Given the description of an element on the screen output the (x, y) to click on. 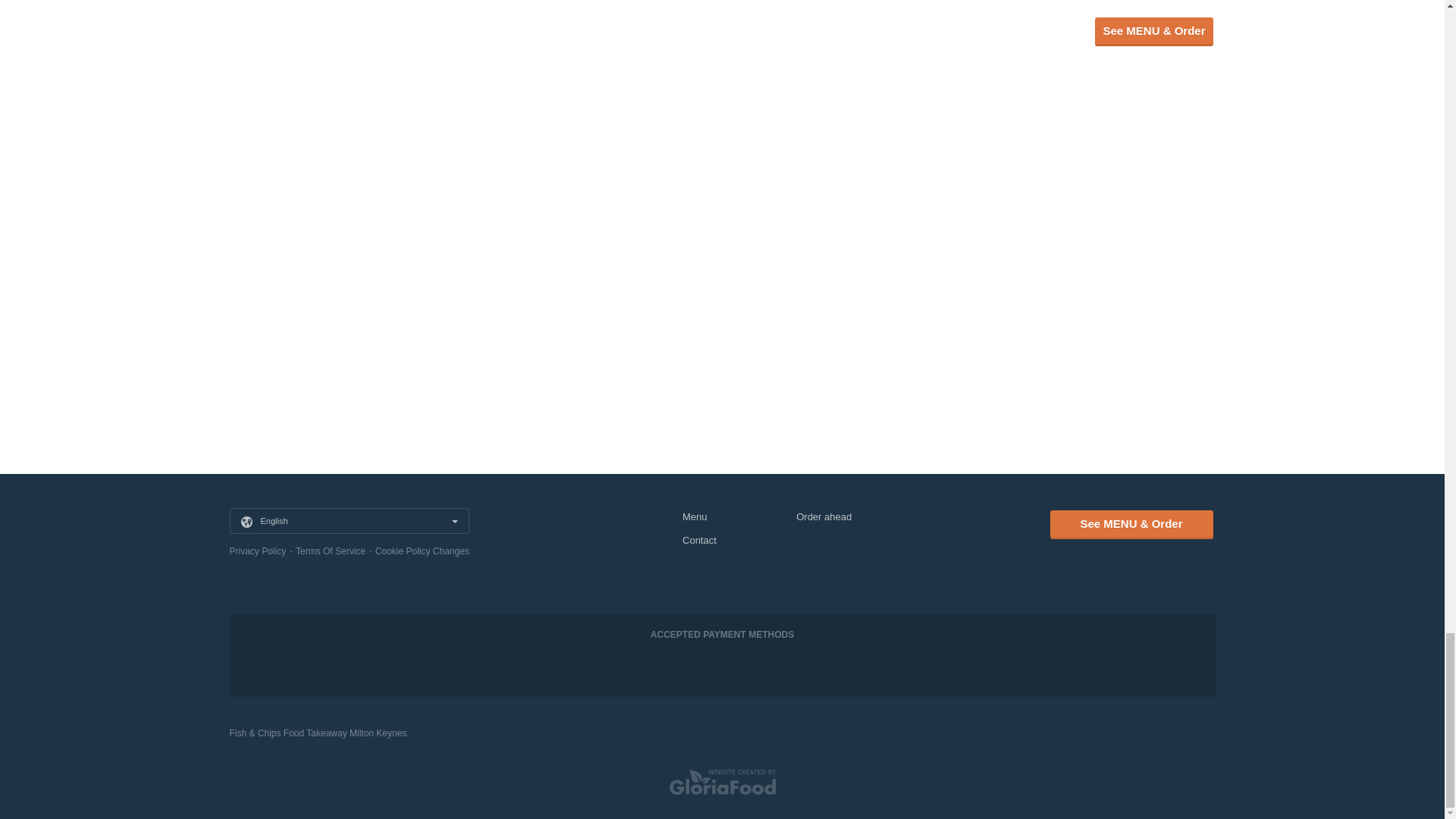
Contact (699, 540)
Order ahead (823, 516)
Menu (694, 516)
Privacy Policy (256, 551)
Terms Of Service (330, 551)
Cookie Policy Changes (421, 551)
